Given the description of an element on the screen output the (x, y) to click on. 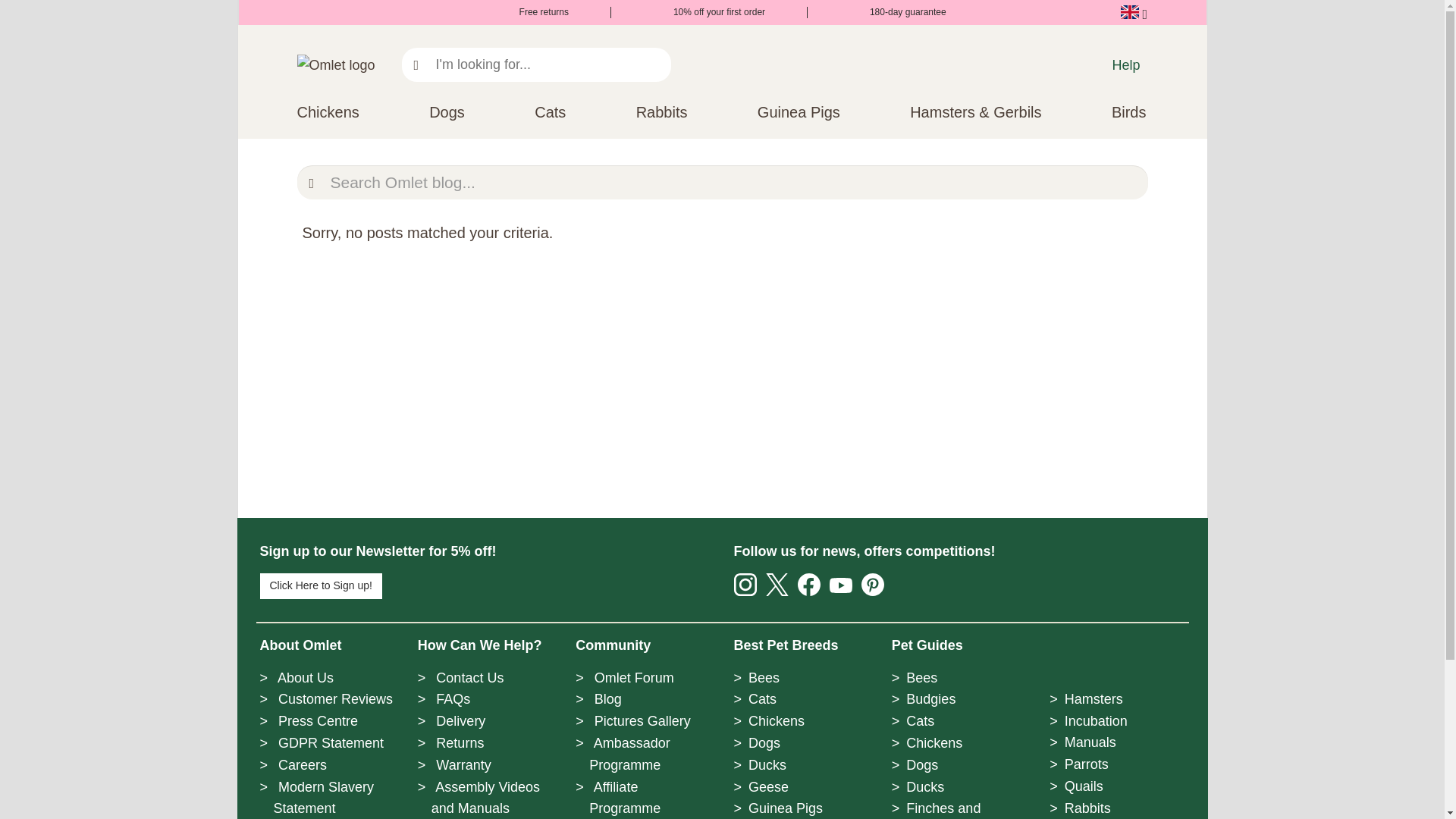
180-day guarantee (897, 11)
Help (1126, 65)
Omlet (336, 65)
Chickens (328, 112)
Free returns (533, 11)
